Given the description of an element on the screen output the (x, y) to click on. 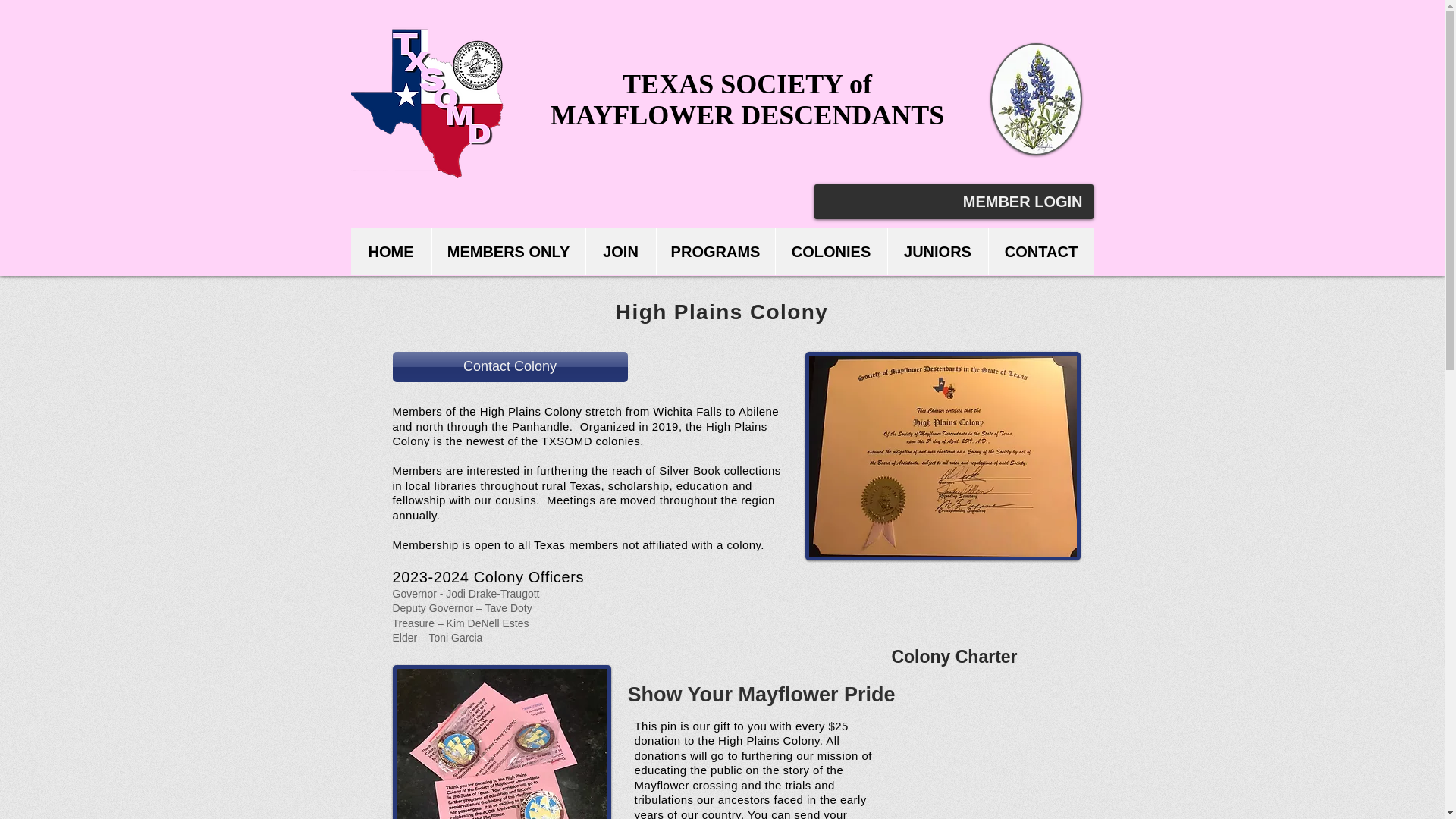
TEXAS SOCIETY  (735, 83)
COLONIES (830, 251)
JOIN (620, 251)
MEMBER LOGIN (1022, 201)
MEMBERS ONLY (507, 251)
HOME (390, 251)
JUNIORS (937, 251)
Contact Colony (510, 367)
PROGRAMS (714, 251)
CONTACT (1040, 251)
